Given the description of an element on the screen output the (x, y) to click on. 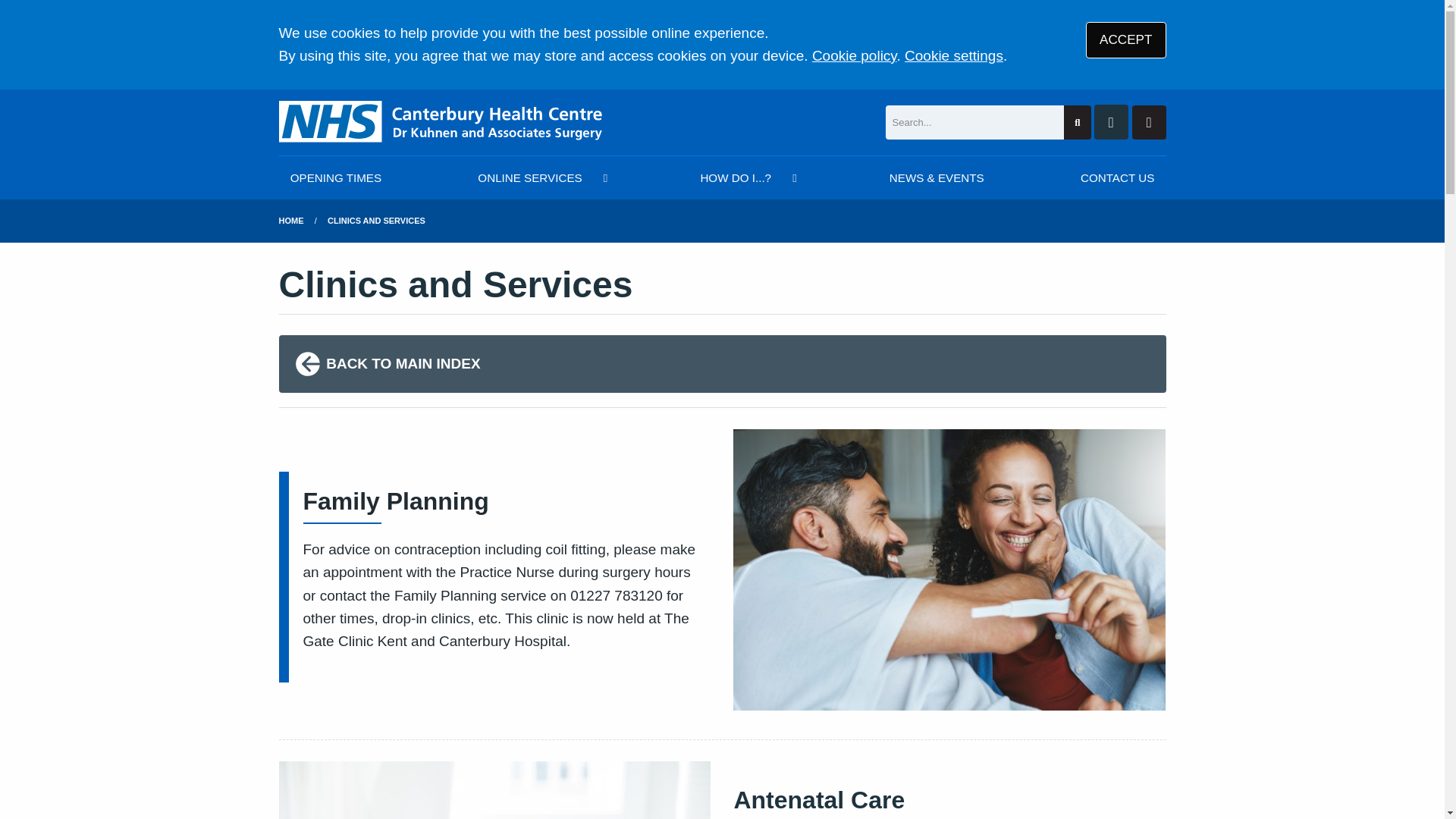
CLINICS AND SERVICES (376, 220)
CONTACT US (1117, 177)
ONLINE SERVICES (539, 177)
OPENING TIMES (336, 177)
ACCEPT (1126, 39)
Cookie settings (953, 55)
BACK TO MAIN INDEX (722, 363)
HOW DO I...? (746, 177)
Cookie policy (854, 55)
HOME (291, 220)
